Given the description of an element on the screen output the (x, y) to click on. 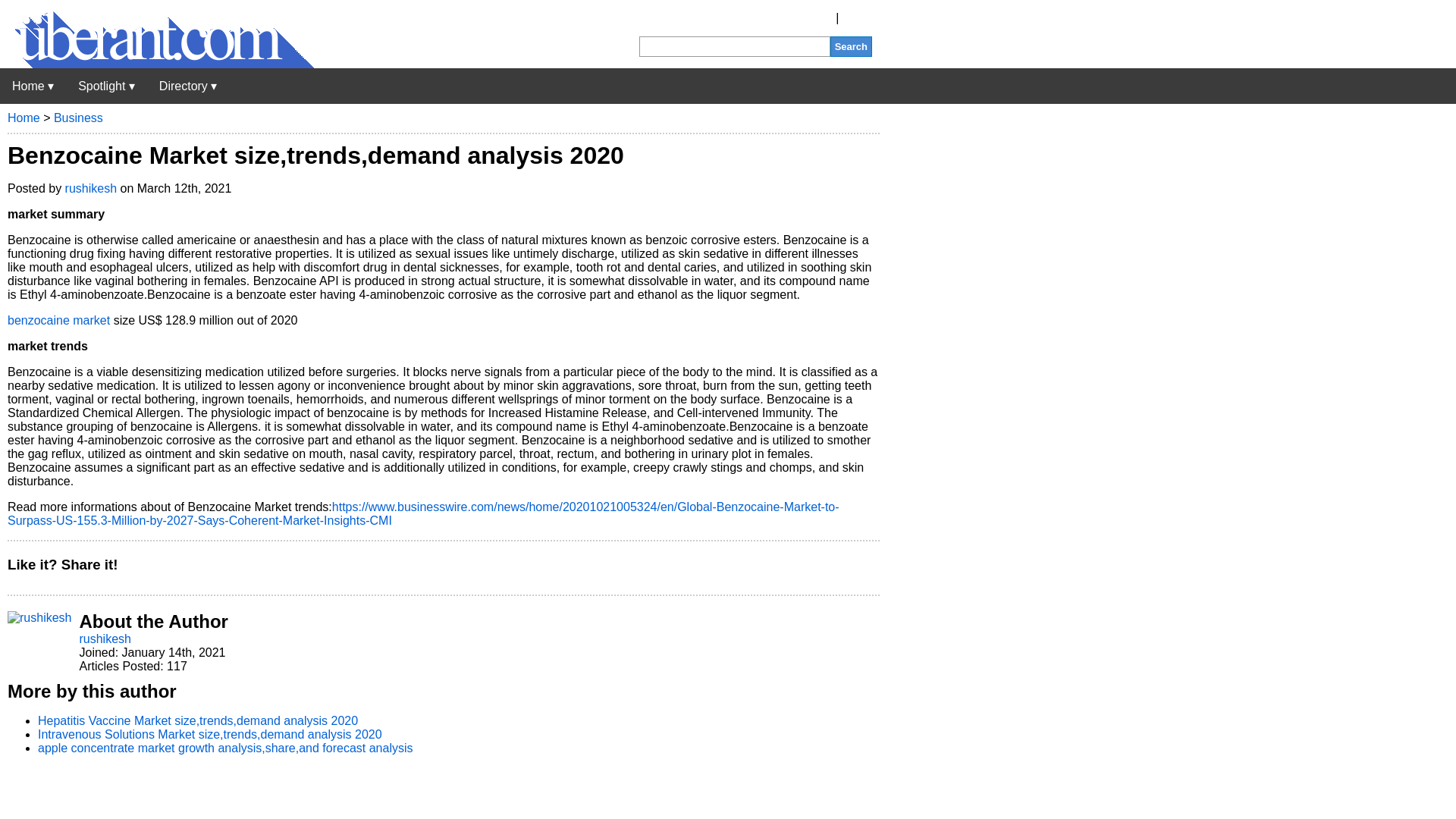
Login (857, 17)
Search (850, 46)
Search (850, 46)
Uberant (32, 85)
Register (809, 17)
Uberant (157, 63)
